Given the description of an element on the screen output the (x, y) to click on. 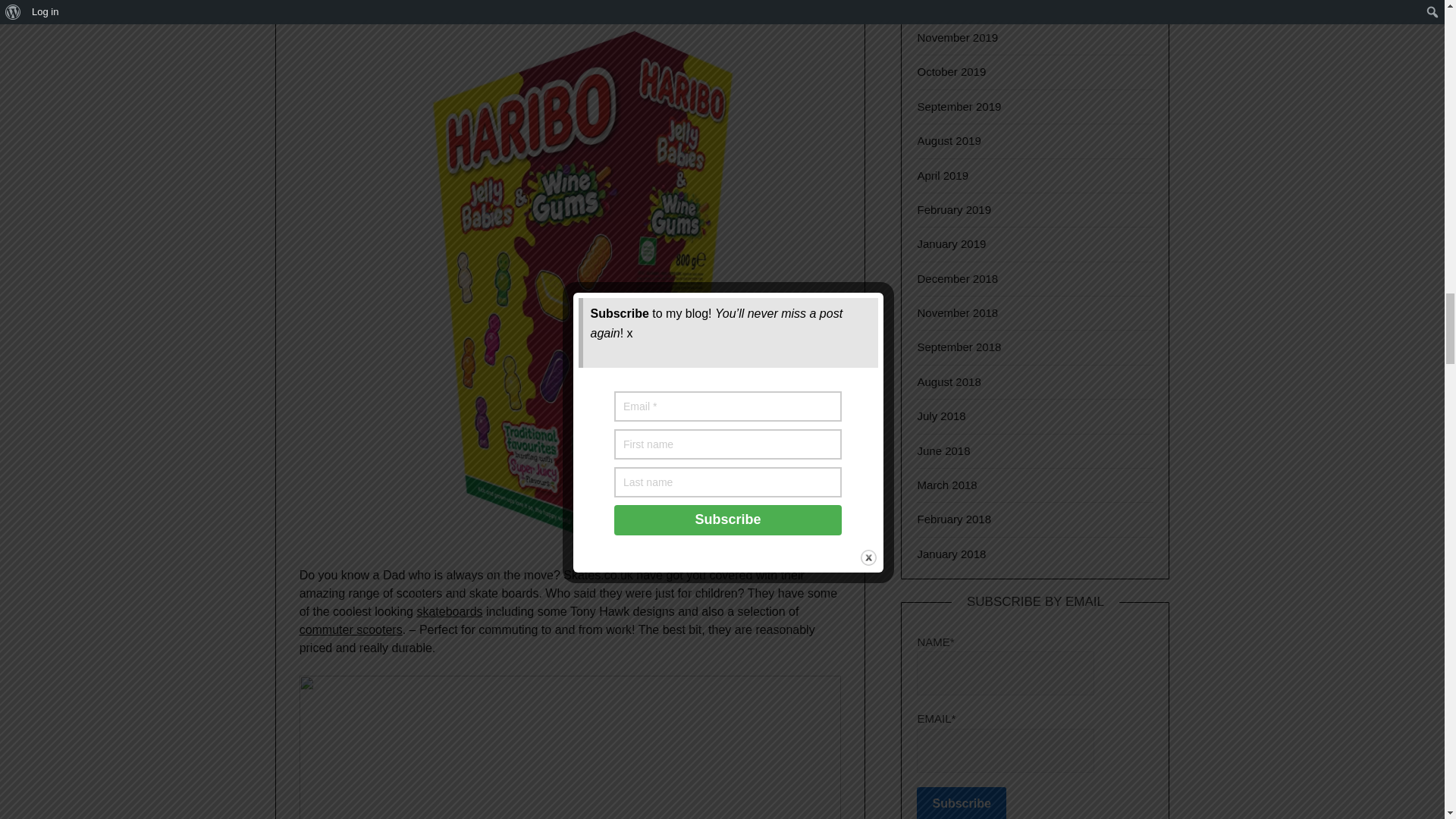
Subscribe (961, 803)
commuter scooters (351, 629)
skateboards (448, 611)
